Given the description of an element on the screen output the (x, y) to click on. 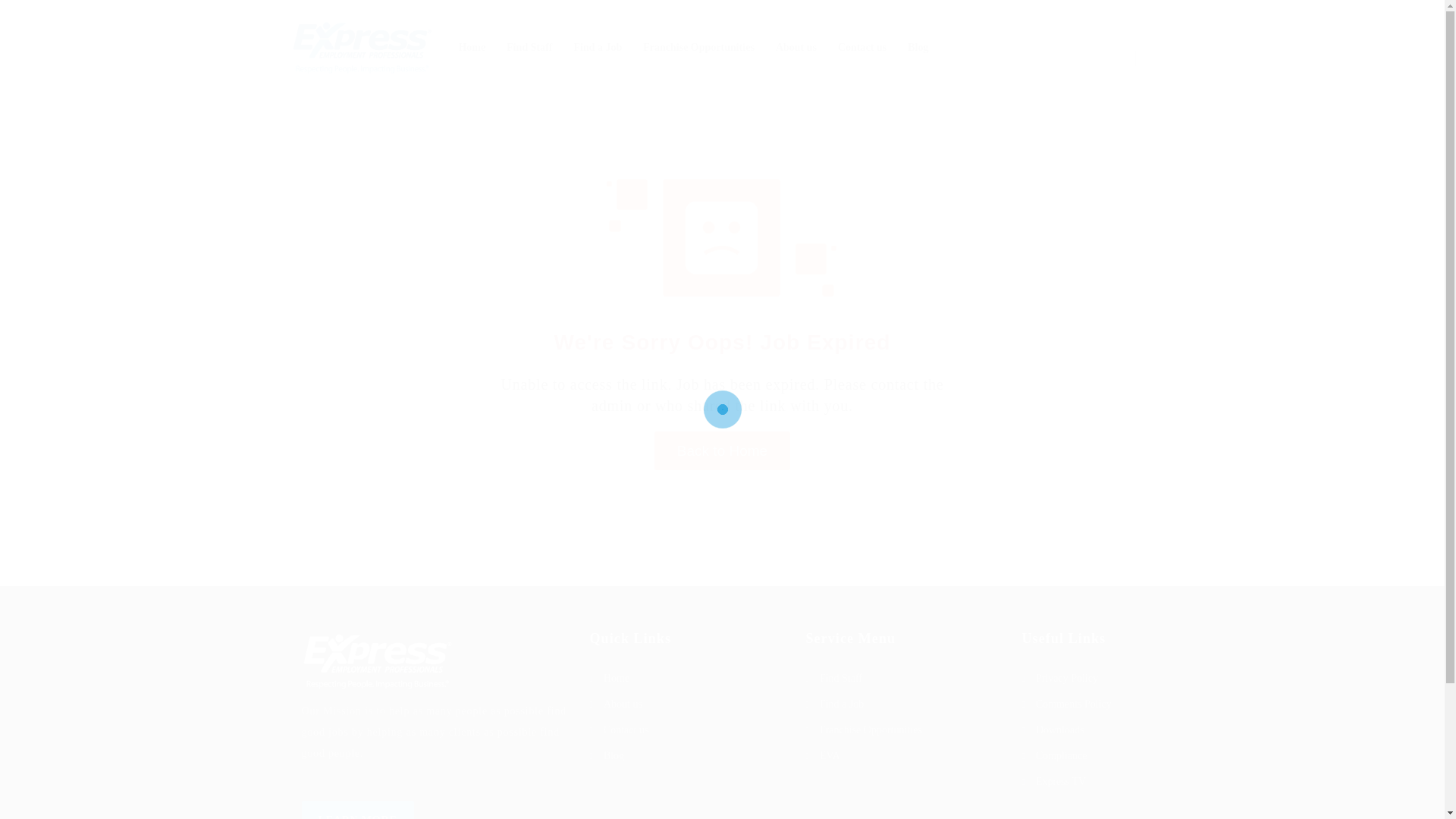
Comments Policy (1082, 703)
Home (686, 678)
EVA (901, 755)
Privacy Policy (1082, 678)
LEARN MORE (357, 809)
Franchise Opportunities (698, 47)
Compliance (1082, 755)
Back to Home (721, 450)
Find a Job (901, 703)
Contact us (686, 730)
